Given the description of an element on the screen output the (x, y) to click on. 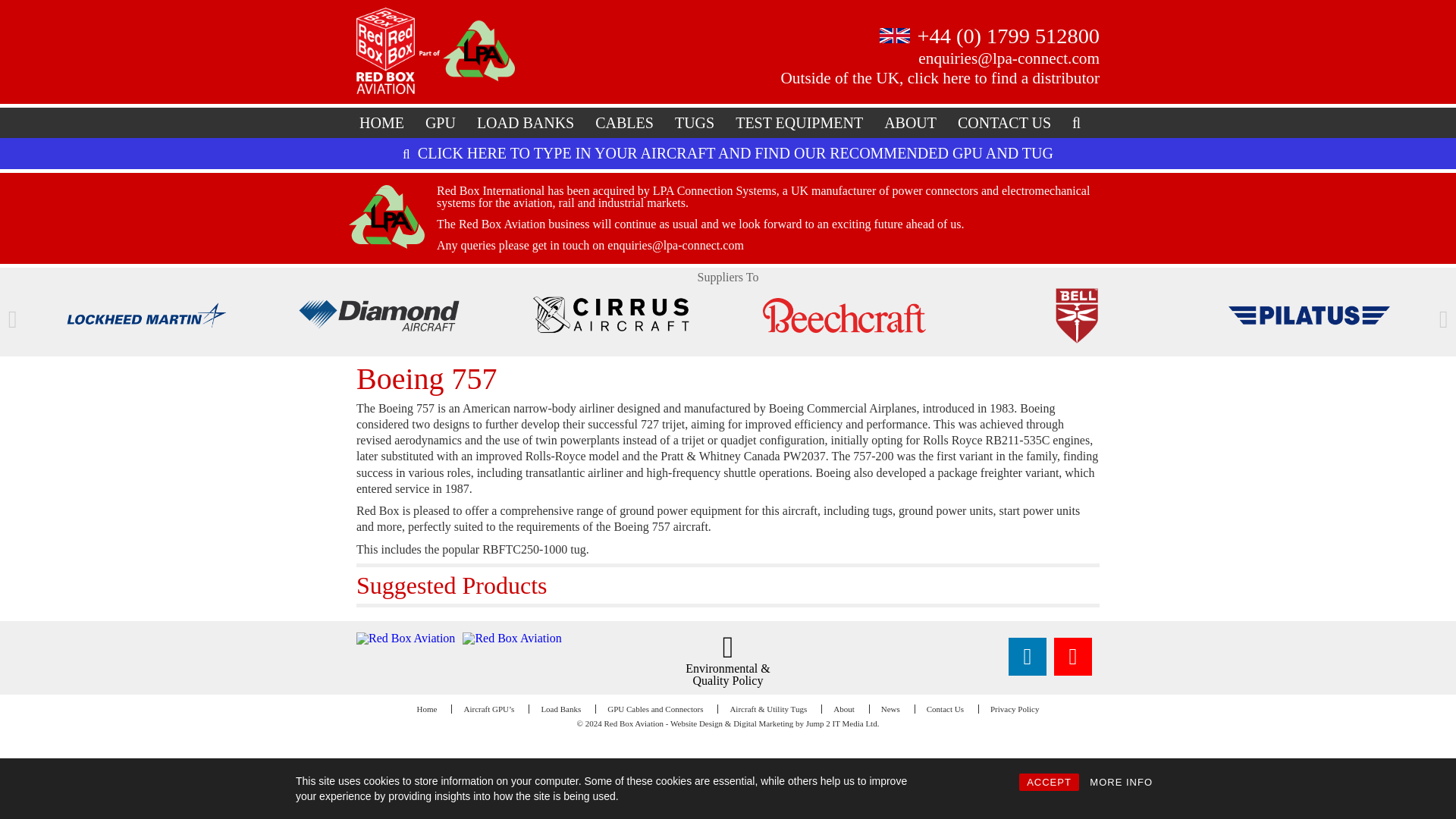
UK (894, 35)
Boeing 757 (426, 377)
Outside of the UK, click here to find a distributor (939, 77)
LOAD BANKS (525, 122)
HOME (381, 122)
GPU (439, 122)
CABLES (624, 122)
